Given the description of an element on the screen output the (x, y) to click on. 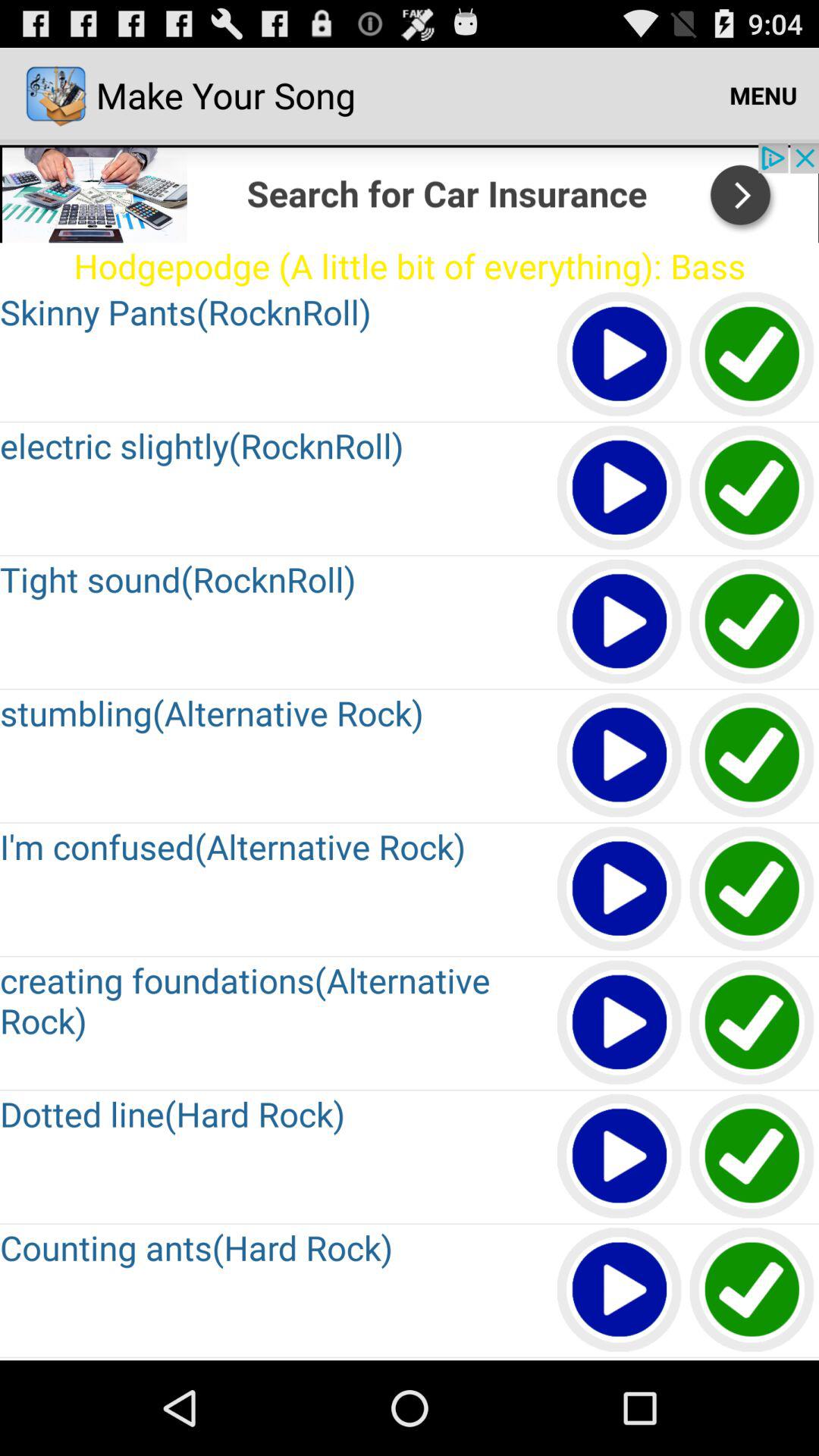
select line (752, 1156)
